Given the description of an element on the screen output the (x, y) to click on. 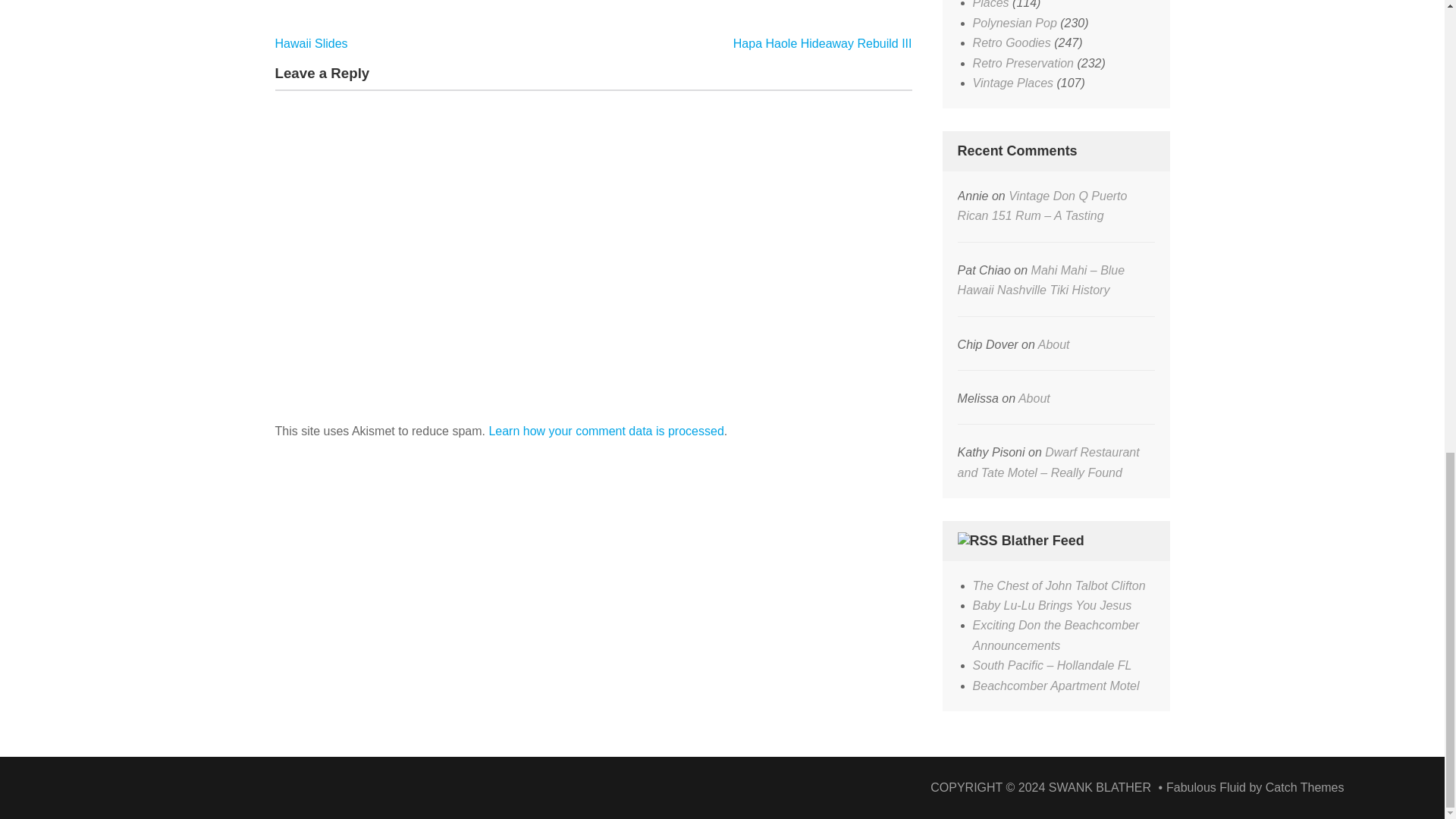
Hawaii Slides (311, 42)
Learn how your comment data is processed (605, 431)
Hapa Haole Hideaway Rebuild III (822, 42)
